Given the description of an element on the screen output the (x, y) to click on. 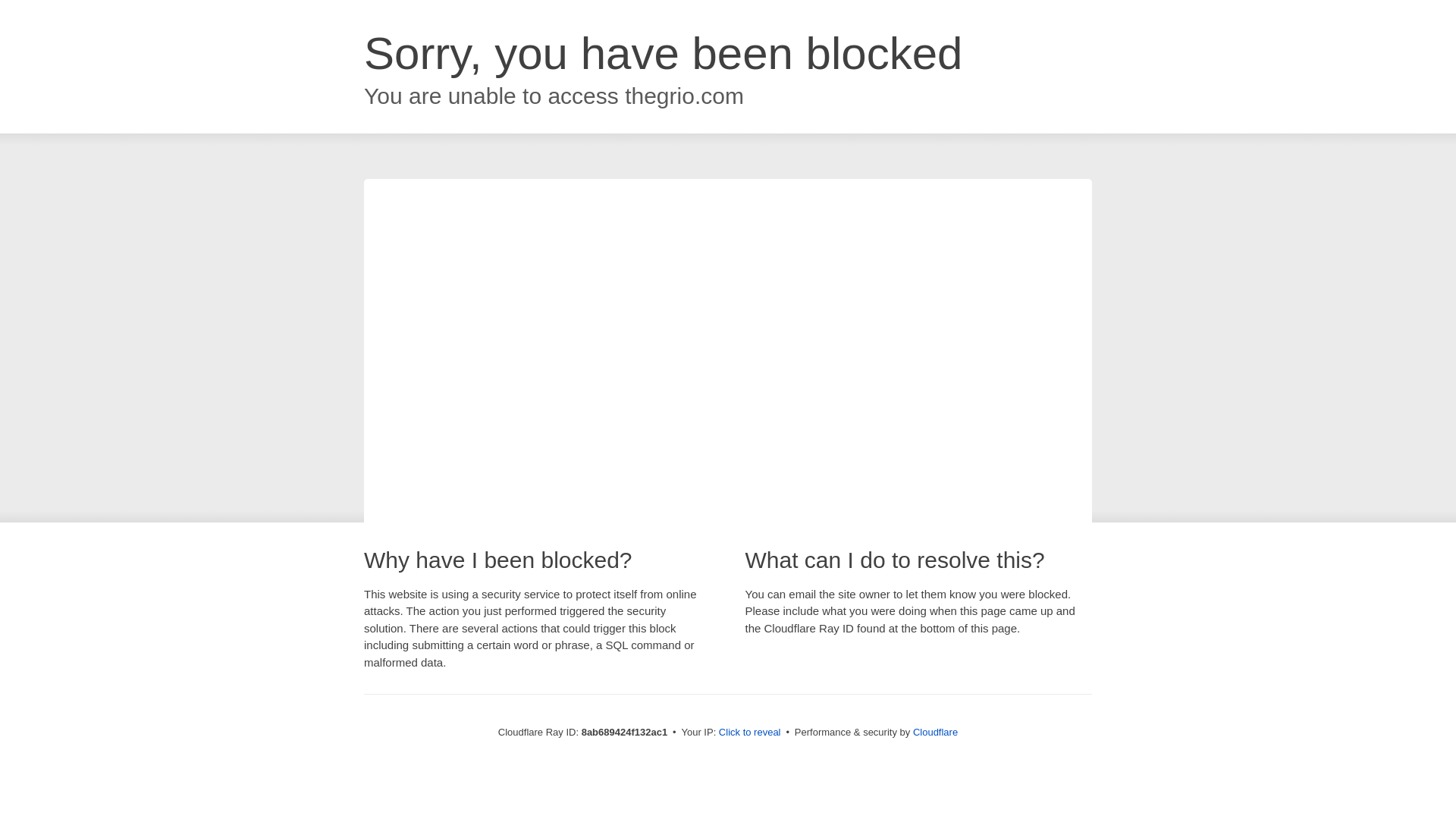
Click to reveal (749, 732)
Cloudflare (935, 731)
